Given the description of an element on the screen output the (x, y) to click on. 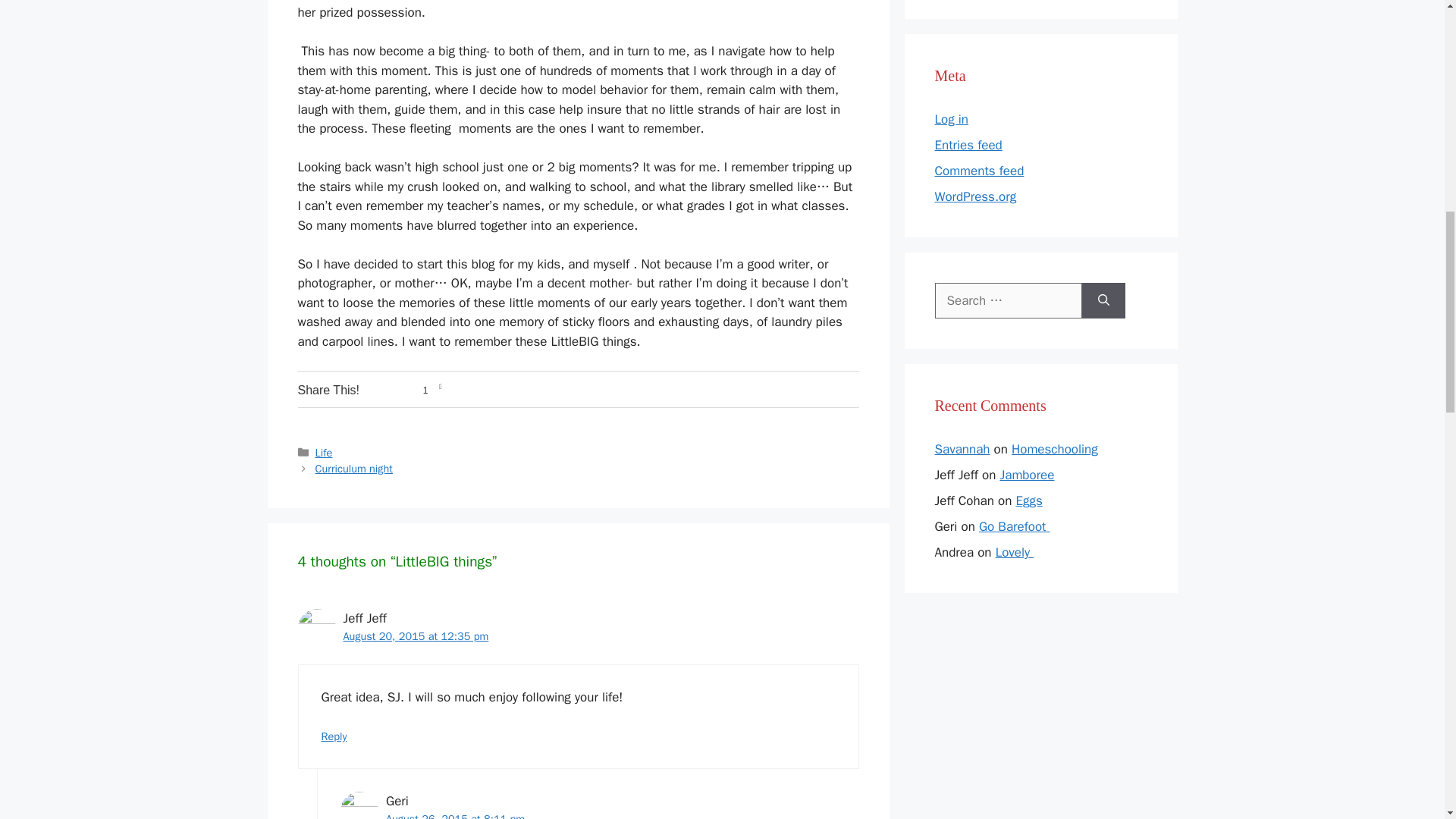
Life (324, 452)
Curriculum night (354, 468)
August 20, 2015 at 12:35 pm (414, 635)
Be the first one to tweet this article! (560, 390)
1 (408, 390)
Search for: (1007, 299)
August 26, 2015 at 8:11 pm (454, 815)
Log in (951, 119)
Reply (334, 735)
